Given the description of an element on the screen output the (x, y) to click on. 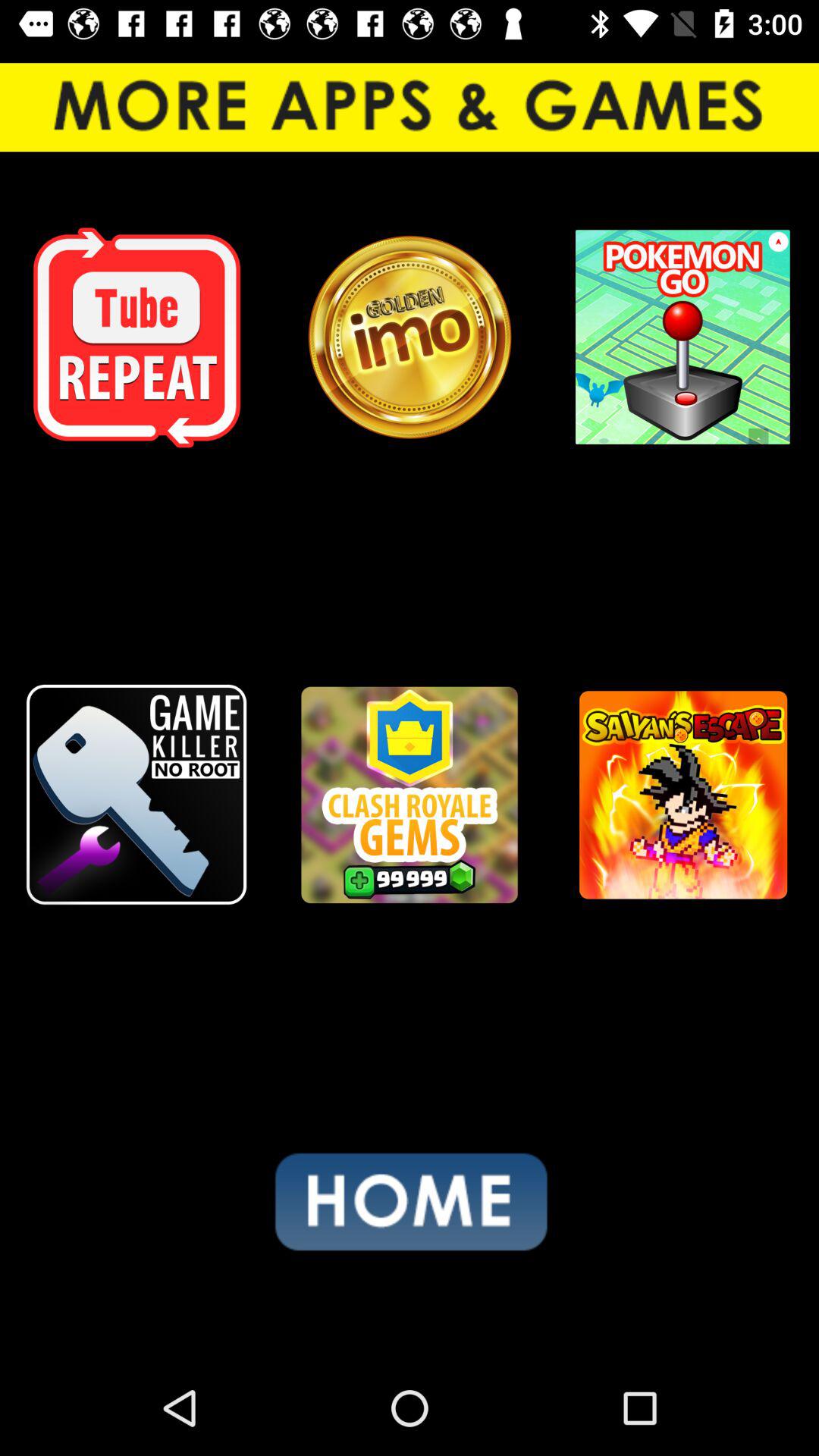
go to app (682, 794)
